Given the description of an element on the screen output the (x, y) to click on. 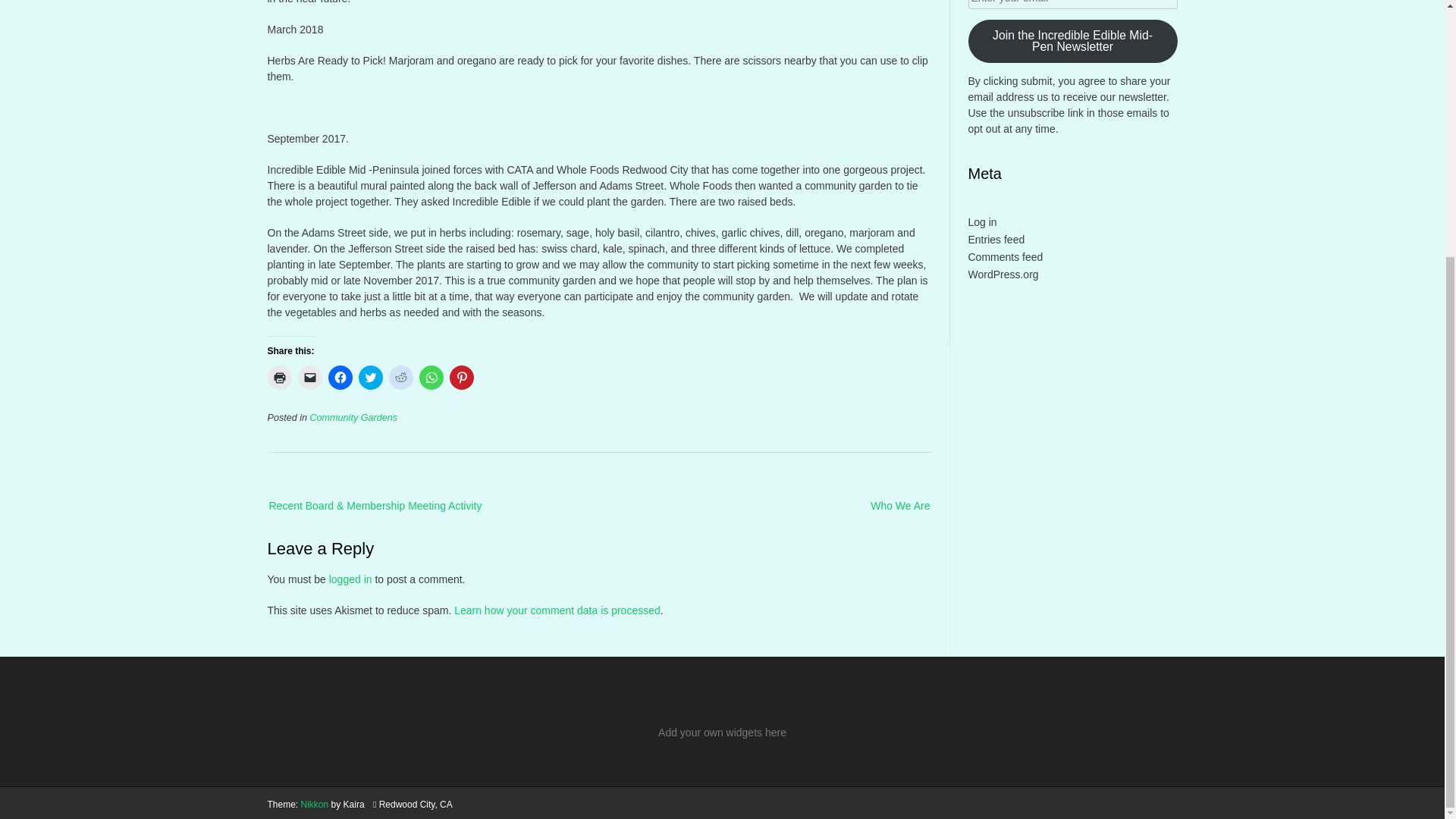
Who We Are (885, 506)
Comments feed (1005, 256)
Click to email a link to a friend (309, 377)
WordPress.org (1003, 273)
Enter your email (1072, 4)
Click to share on WhatsApp (430, 377)
Log in (981, 222)
logged in (350, 579)
Nikkon (315, 804)
Click to print (278, 377)
